Given the description of an element on the screen output the (x, y) to click on. 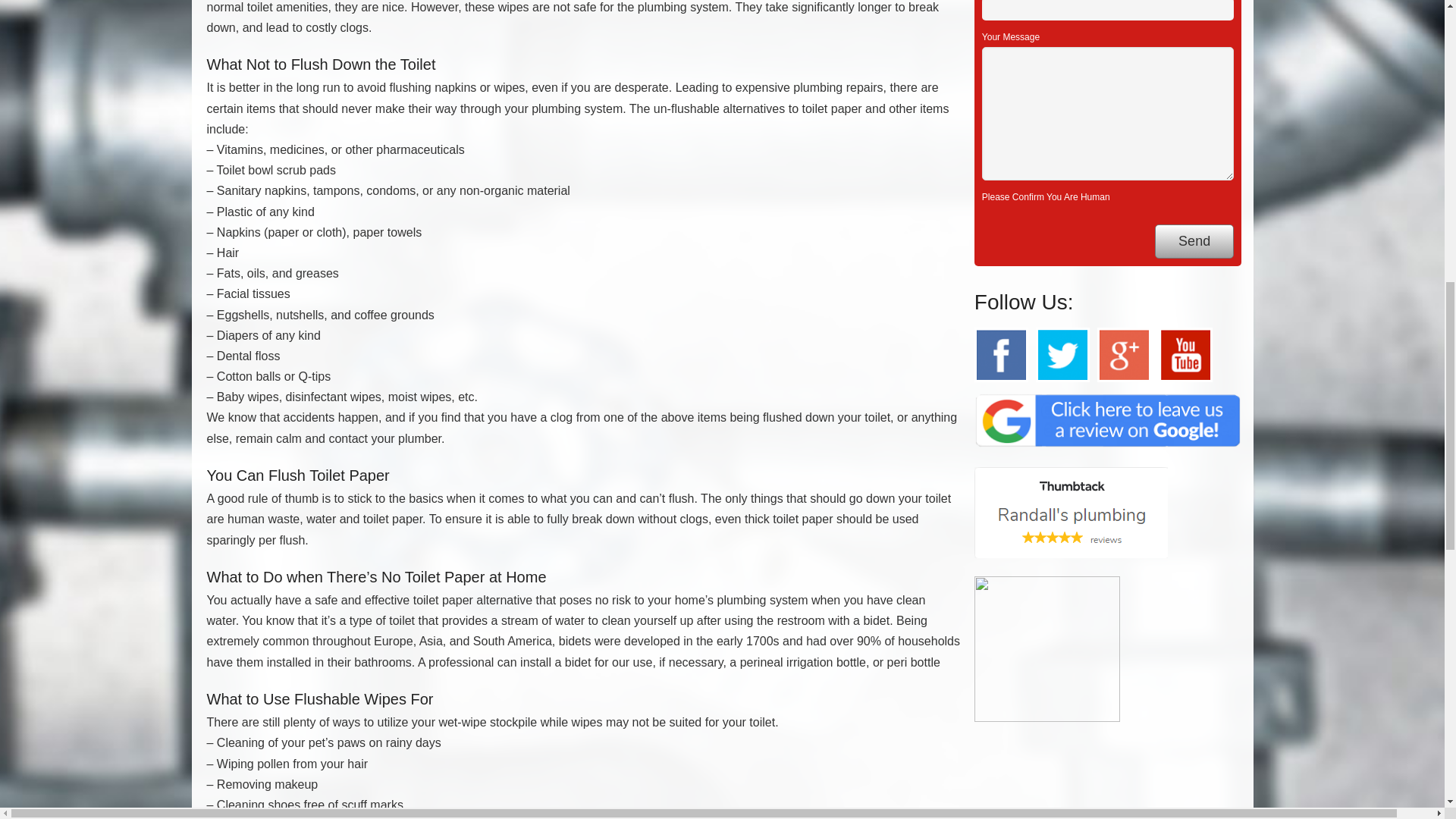
Send (1193, 241)
Send (1193, 241)
